Given the description of an element on the screen output the (x, y) to click on. 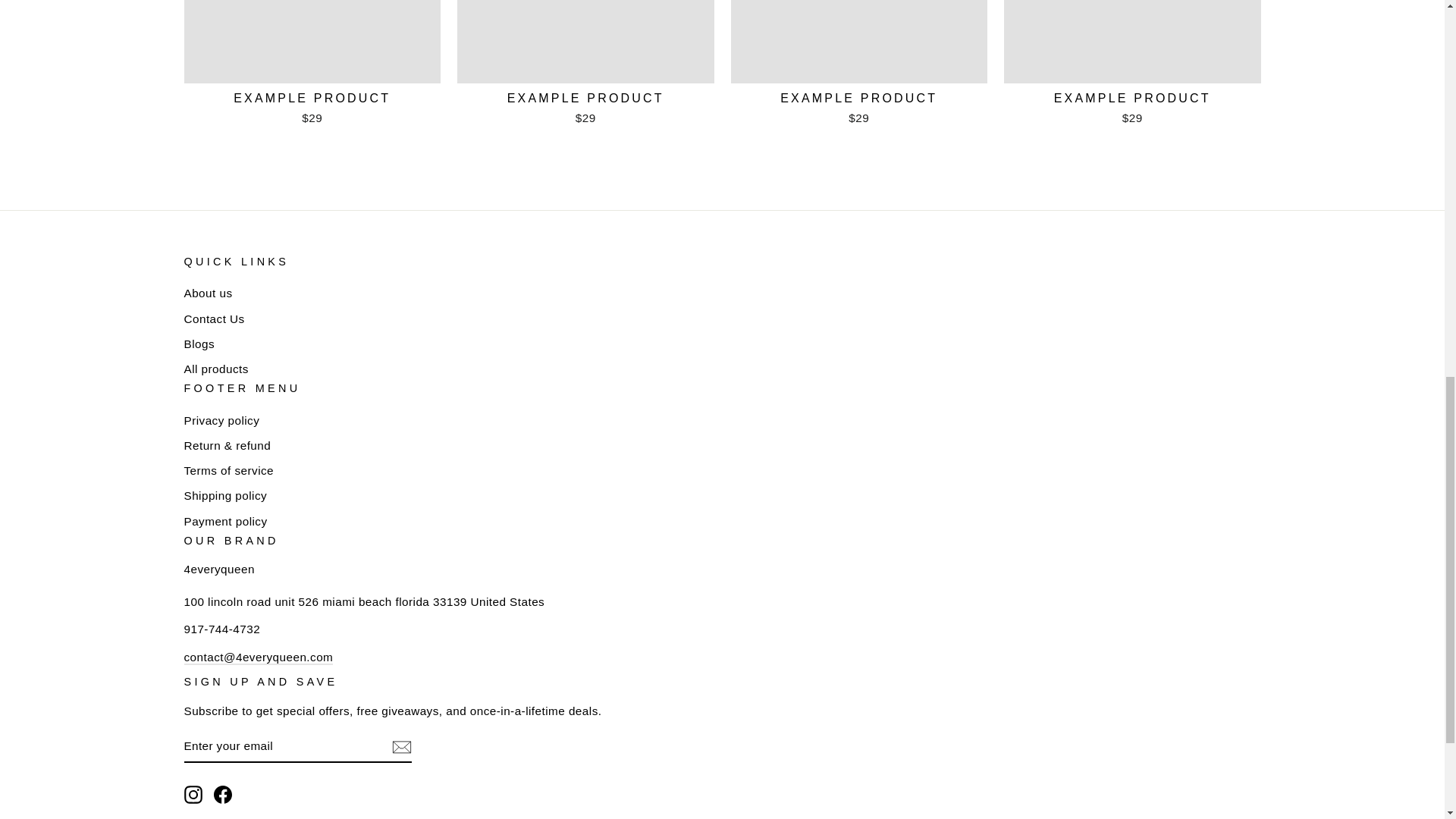
4everyqueen on Instagram (192, 794)
4everyqueen on Facebook (222, 794)
